Given the description of an element on the screen output the (x, y) to click on. 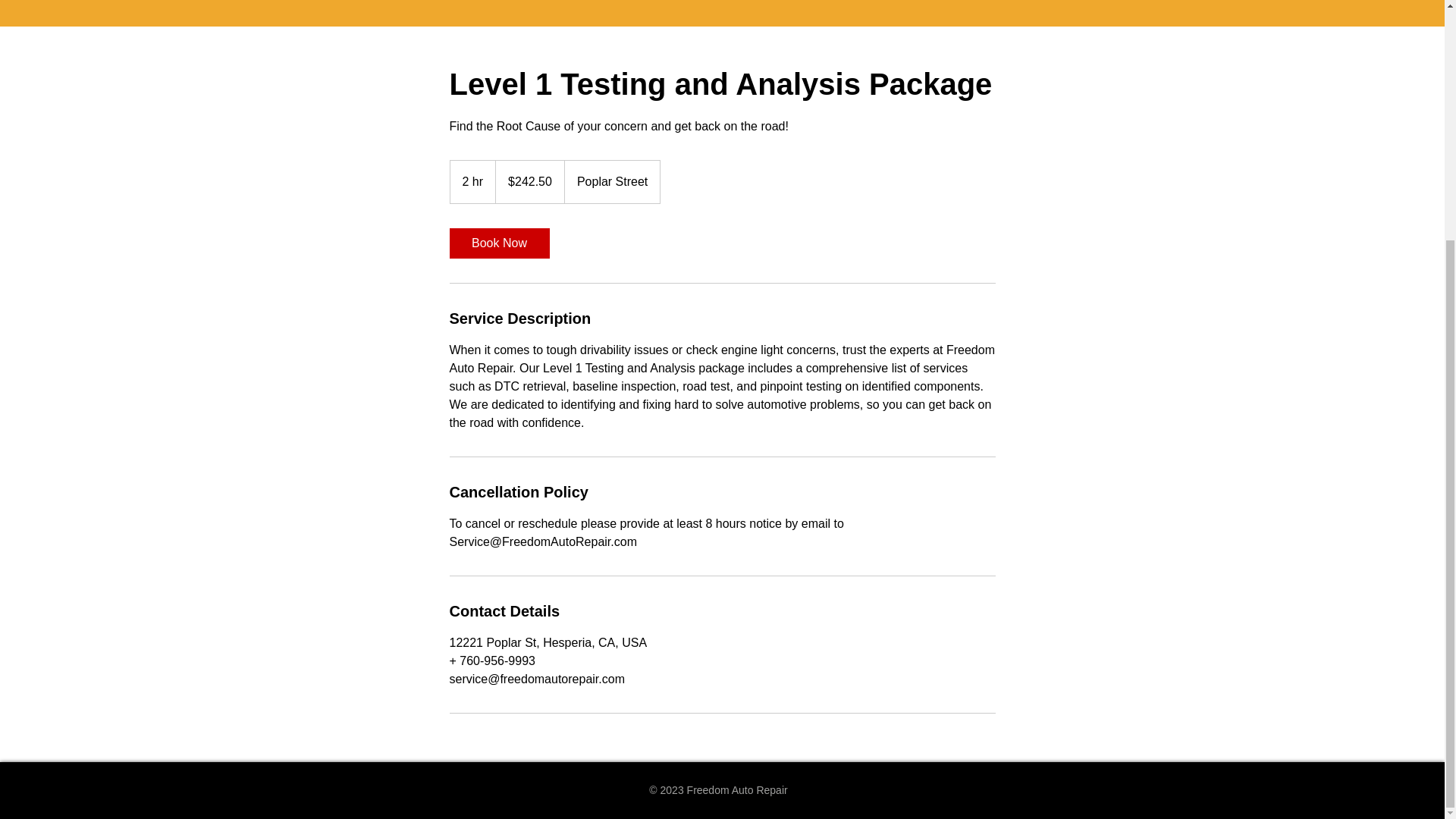
Book Now (498, 243)
